Given the description of an element on the screen output the (x, y) to click on. 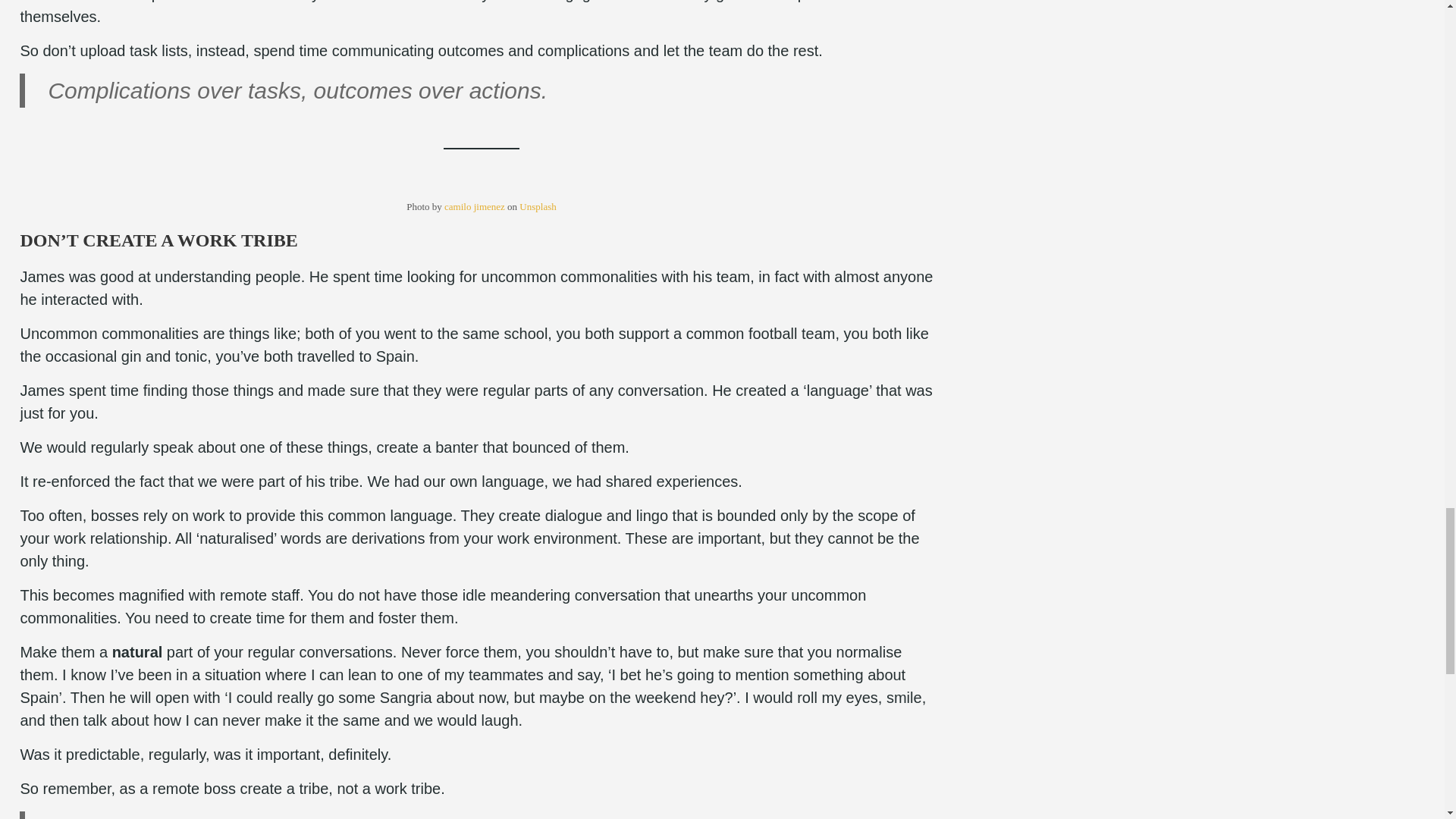
camilo jimenez (474, 206)
Unsplash (537, 206)
